Given the description of an element on the screen output the (x, y) to click on. 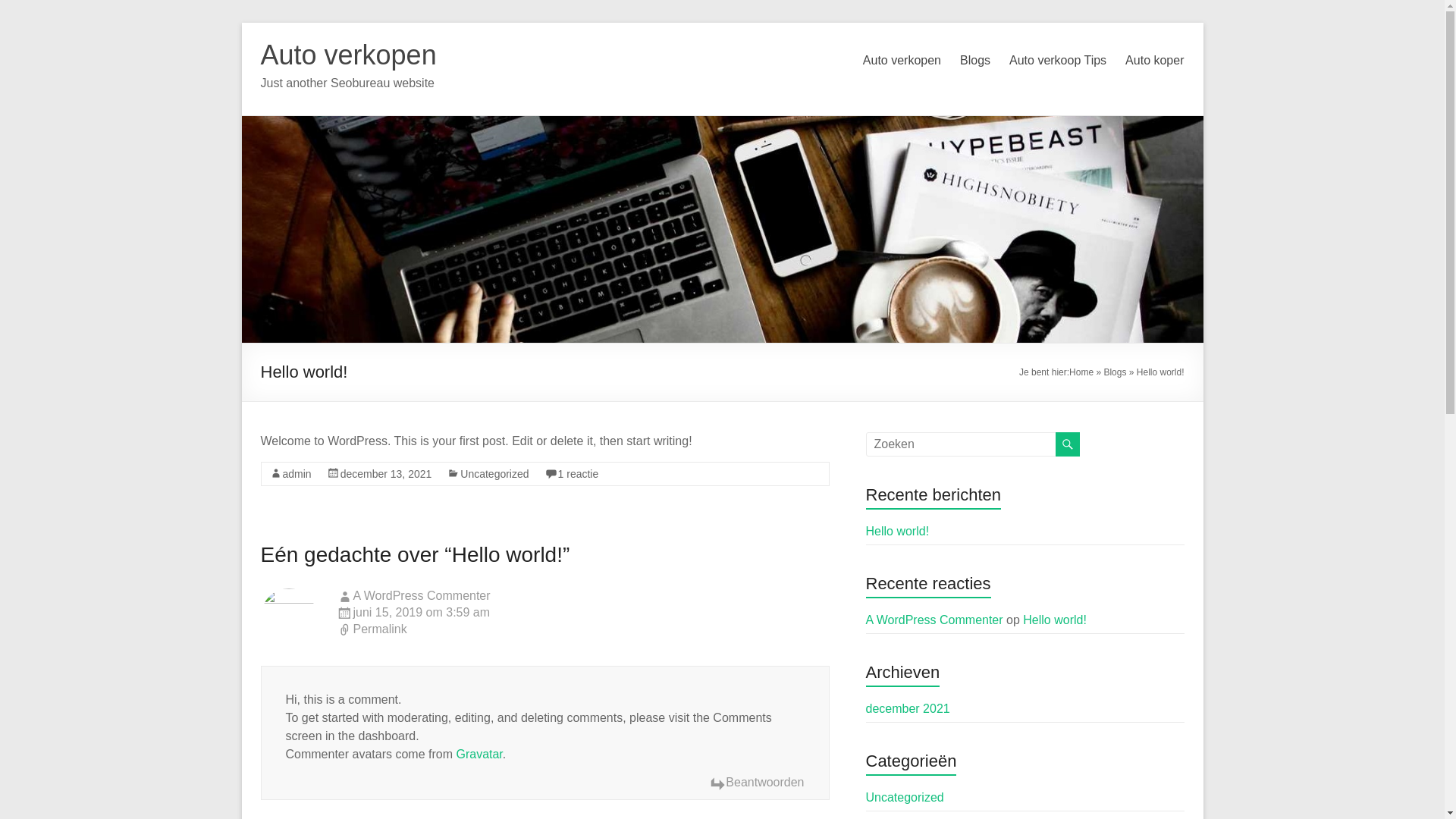
Hello world! Element type: text (1054, 619)
Uncategorized Element type: text (905, 796)
Blogs Element type: text (975, 60)
Auto verkopen Element type: text (901, 60)
1 reactie Element type: text (578, 473)
Permalink Element type: text (582, 629)
admin Element type: text (296, 473)
A WordPress Commenter Element type: text (421, 595)
Home Element type: text (1081, 372)
Auto verkopen Element type: text (348, 54)
Gravatar Element type: text (478, 753)
Ga naar inhoud Element type: text (241, 21)
Blogs Element type: text (1114, 372)
Hello world! Element type: text (897, 530)
Auto koper Element type: text (1154, 60)
Beantwoorden Element type: text (756, 783)
december 2021 Element type: text (908, 708)
A WordPress Commenter Element type: text (934, 619)
Uncategorized Element type: text (494, 473)
Auto verkoop Tips Element type: text (1057, 60)
december 13, 2021 Element type: text (386, 473)
